Given the description of an element on the screen output the (x, y) to click on. 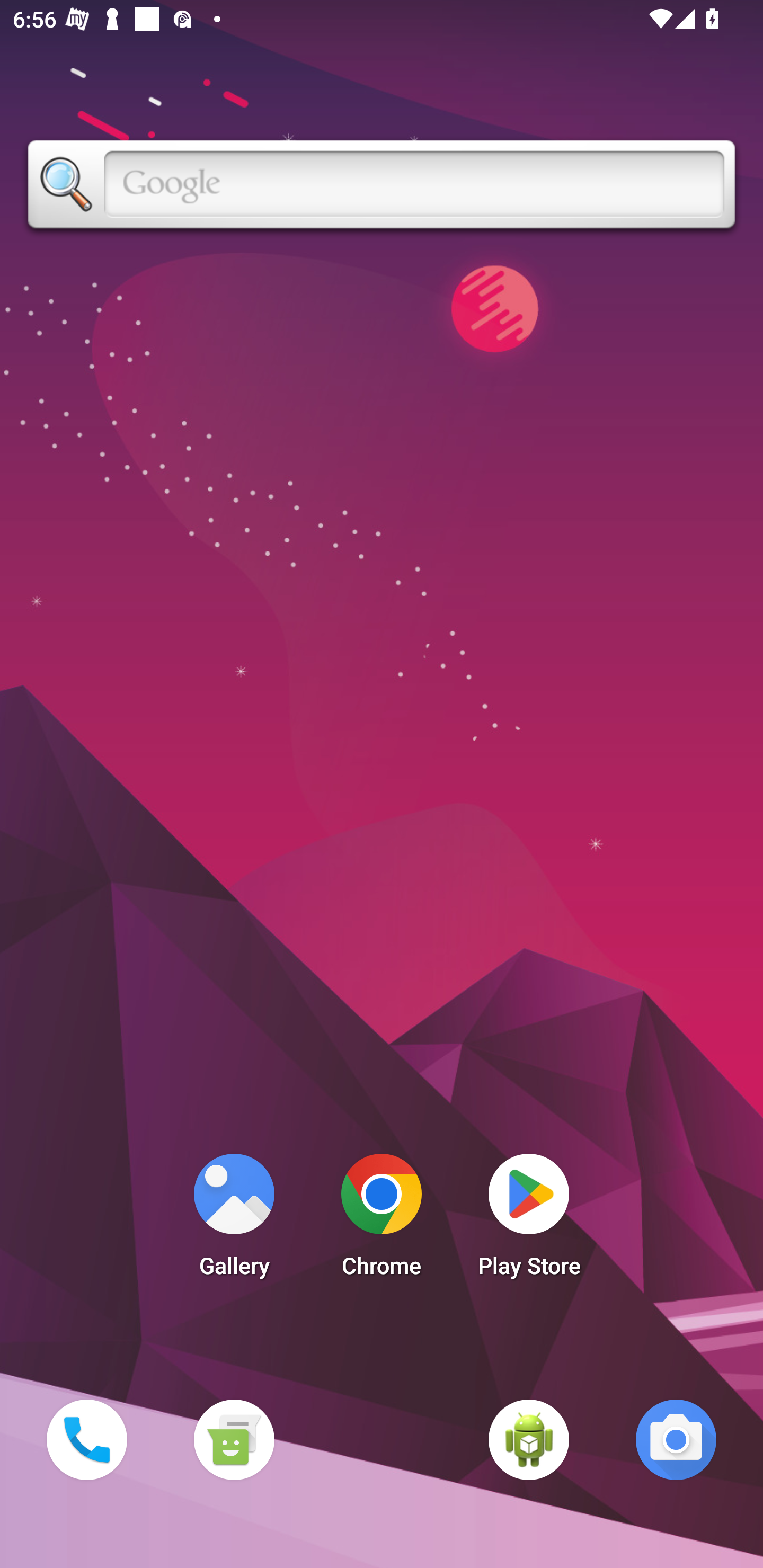
Gallery (233, 1220)
Chrome (381, 1220)
Play Store (528, 1220)
Phone (86, 1439)
Messaging (233, 1439)
WebView Browser Tester (528, 1439)
Camera (676, 1439)
